Given the description of an element on the screen output the (x, y) to click on. 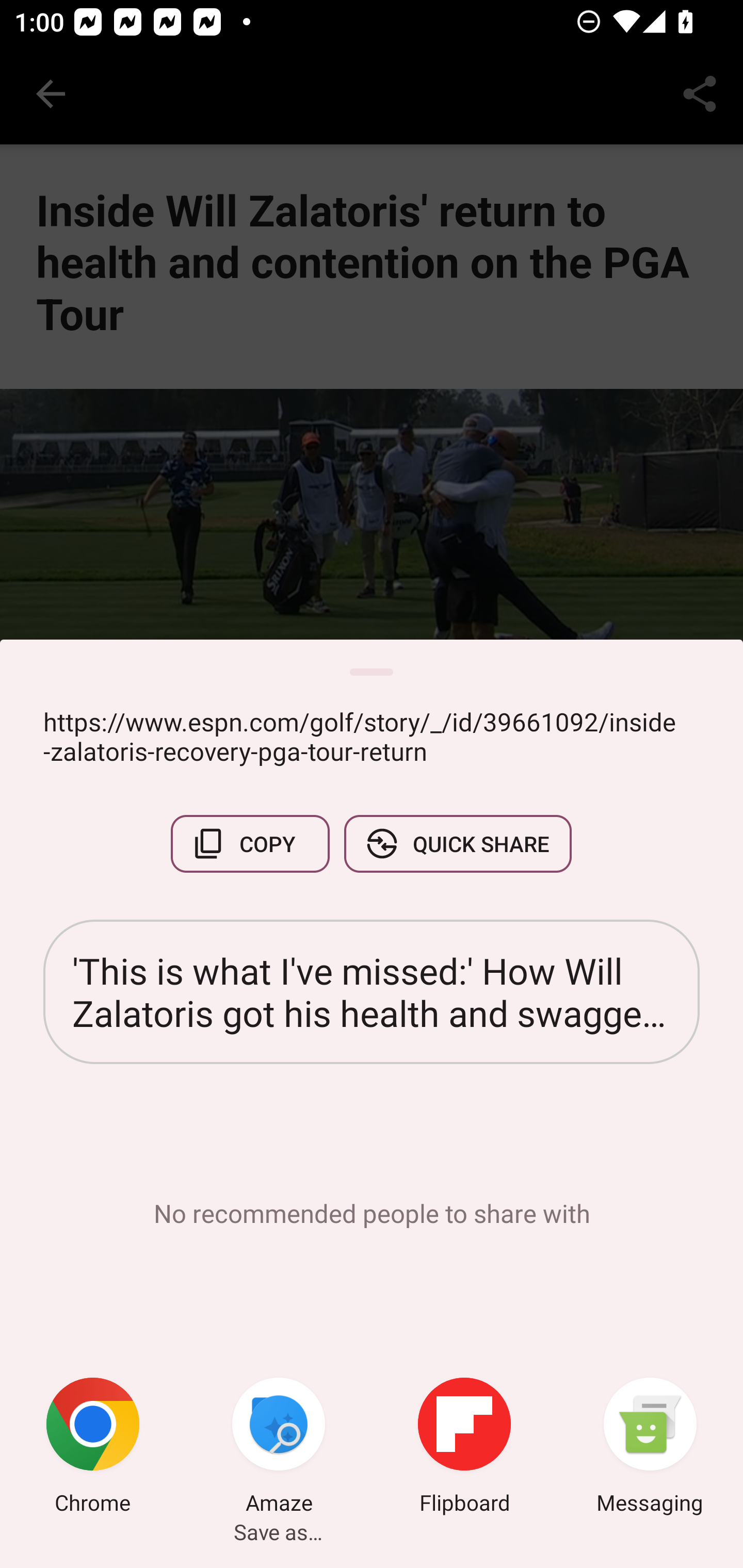
COPY (249, 844)
QUICK SHARE (457, 844)
Chrome (92, 1448)
Amaze Save as… (278, 1448)
Flipboard (464, 1448)
Messaging (650, 1448)
